Given the description of an element on the screen output the (x, y) to click on. 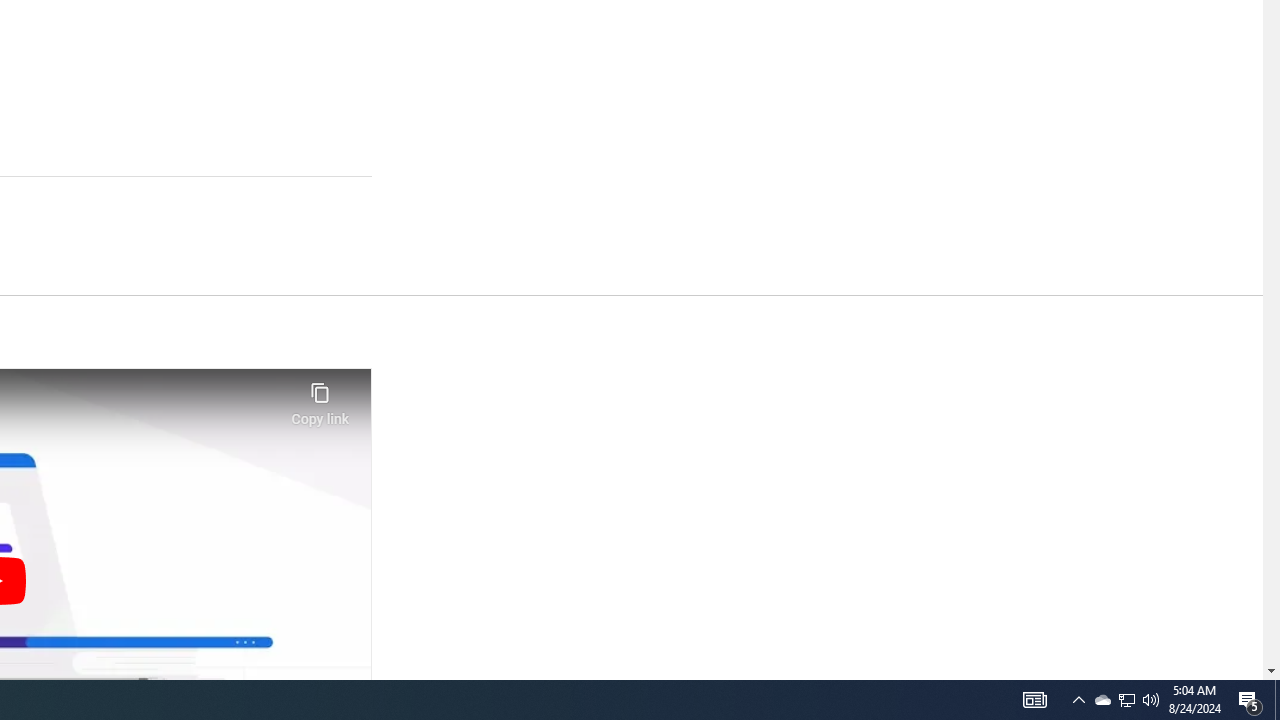
Copy link (319, 398)
